Given the description of an element on the screen output the (x, y) to click on. 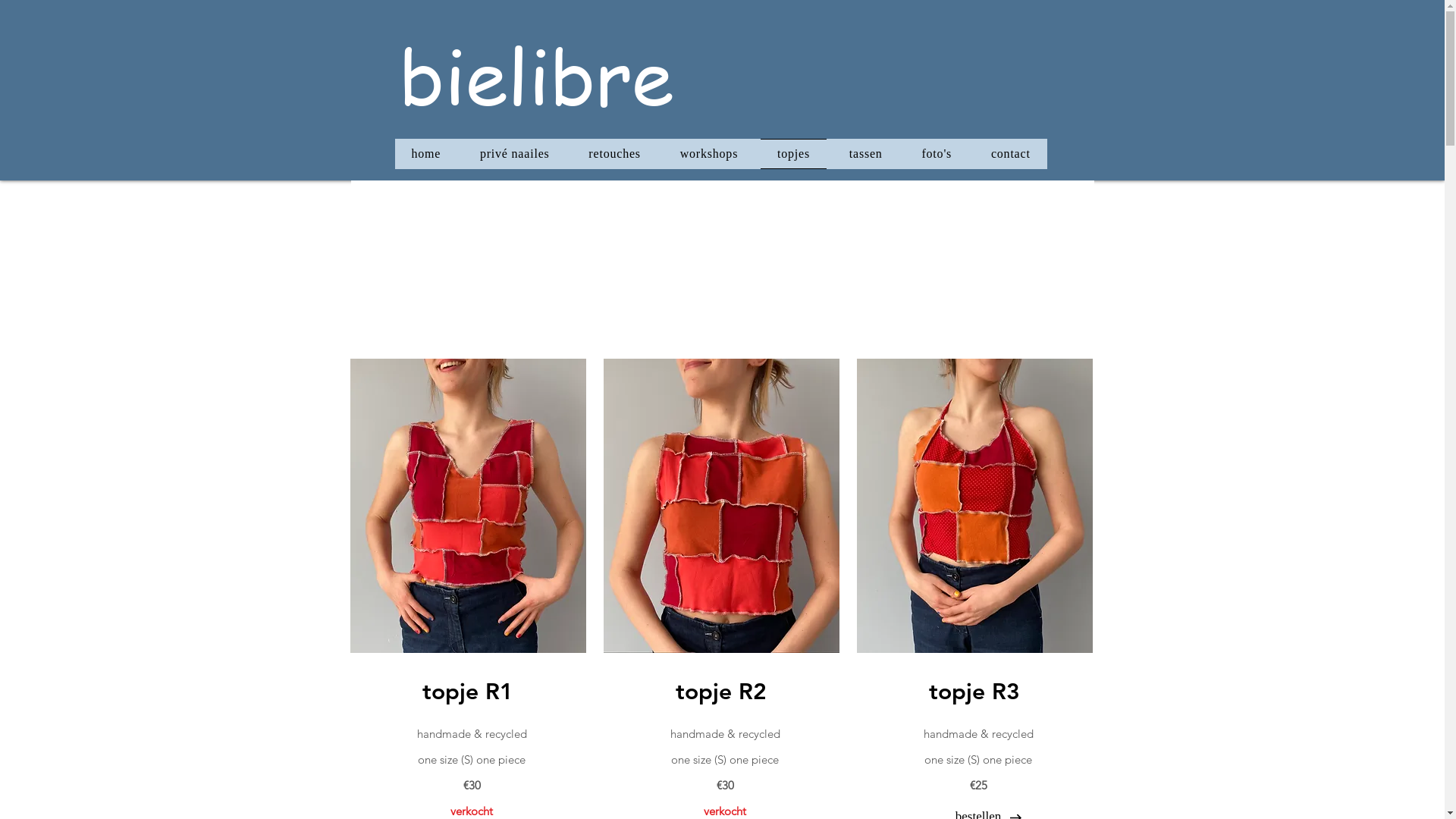
foto's Element type: text (936, 153)
retouches Element type: text (613, 153)
tassen Element type: text (865, 153)
workshops Element type: text (708, 153)
bielibre Element type: text (535, 74)
home Element type: text (425, 153)
contact Element type: text (1010, 153)
topjes Element type: text (793, 153)
